Given the description of an element on the screen output the (x, y) to click on. 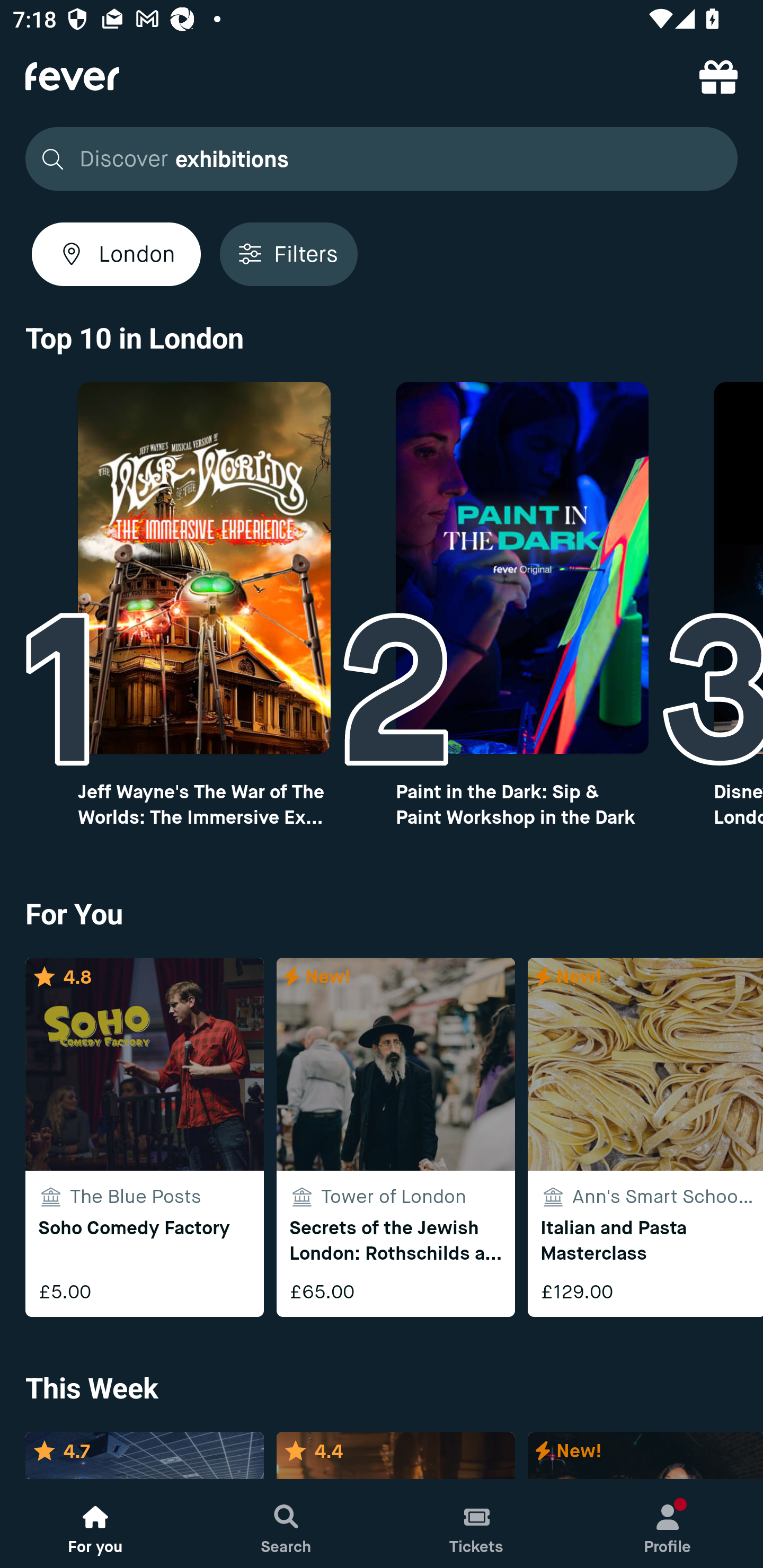
referral (718, 75)
Discover exhibitions (381, 158)
Discover exhibitions (376, 158)
London (116, 253)
Filters (288, 253)
Top10 image (203, 568)
Top10 image (521, 568)
Search (285, 1523)
Tickets (476, 1523)
Profile, New notification Profile (667, 1523)
